Given the description of an element on the screen output the (x, y) to click on. 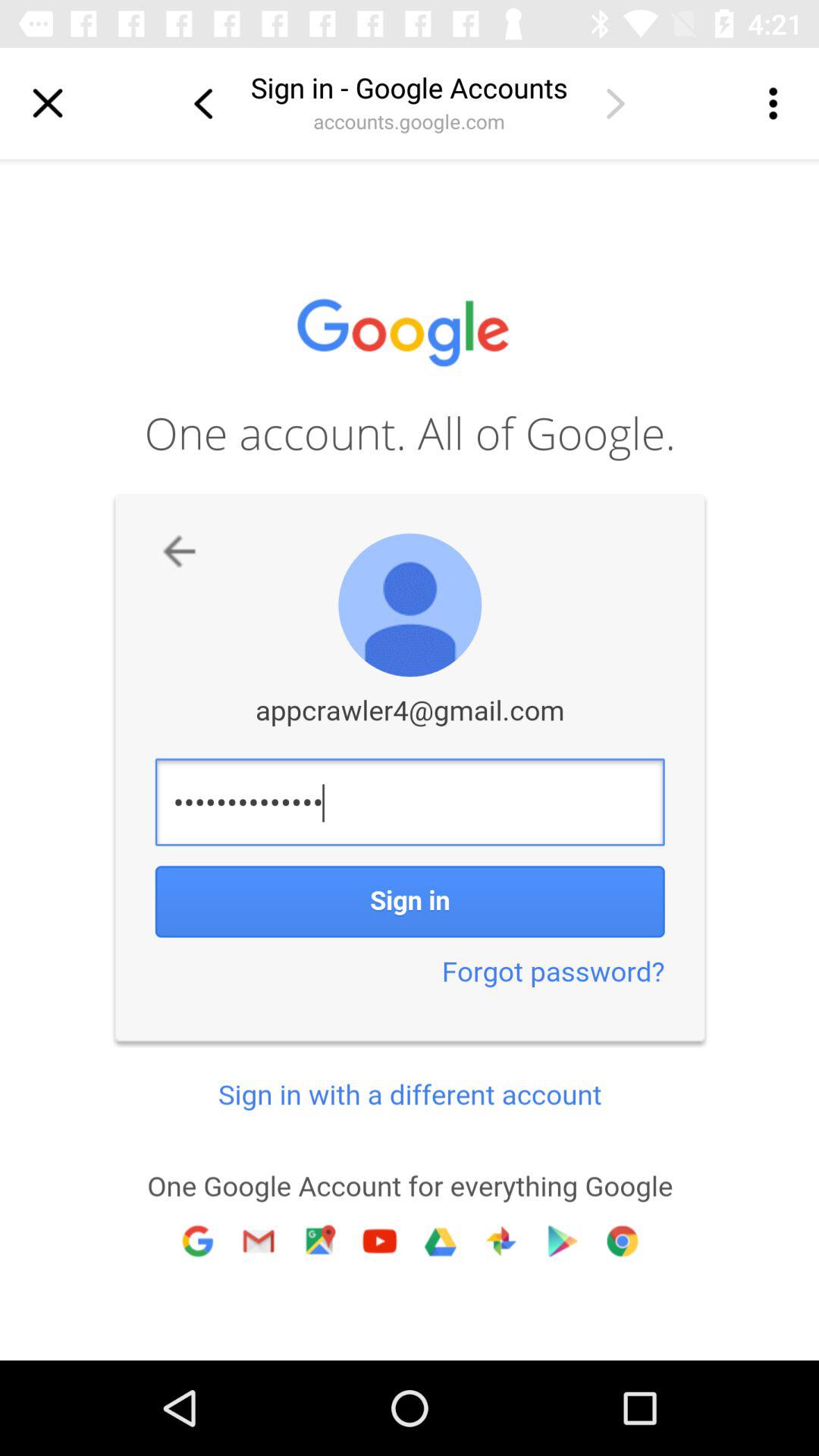
next page (615, 103)
